Given the description of an element on the screen output the (x, y) to click on. 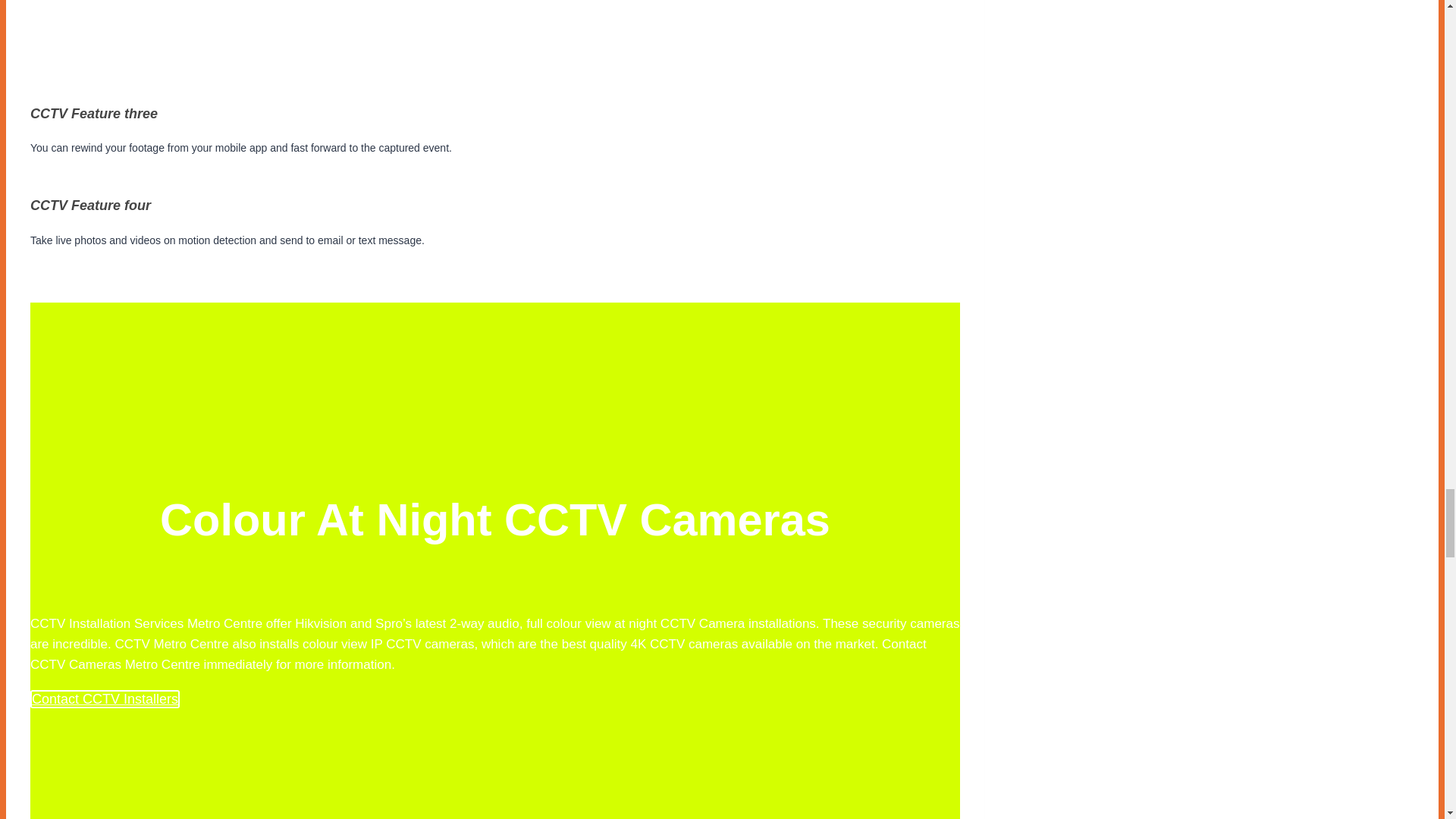
Contact CCTV Installers (104, 699)
